Given the description of an element on the screen output the (x, y) to click on. 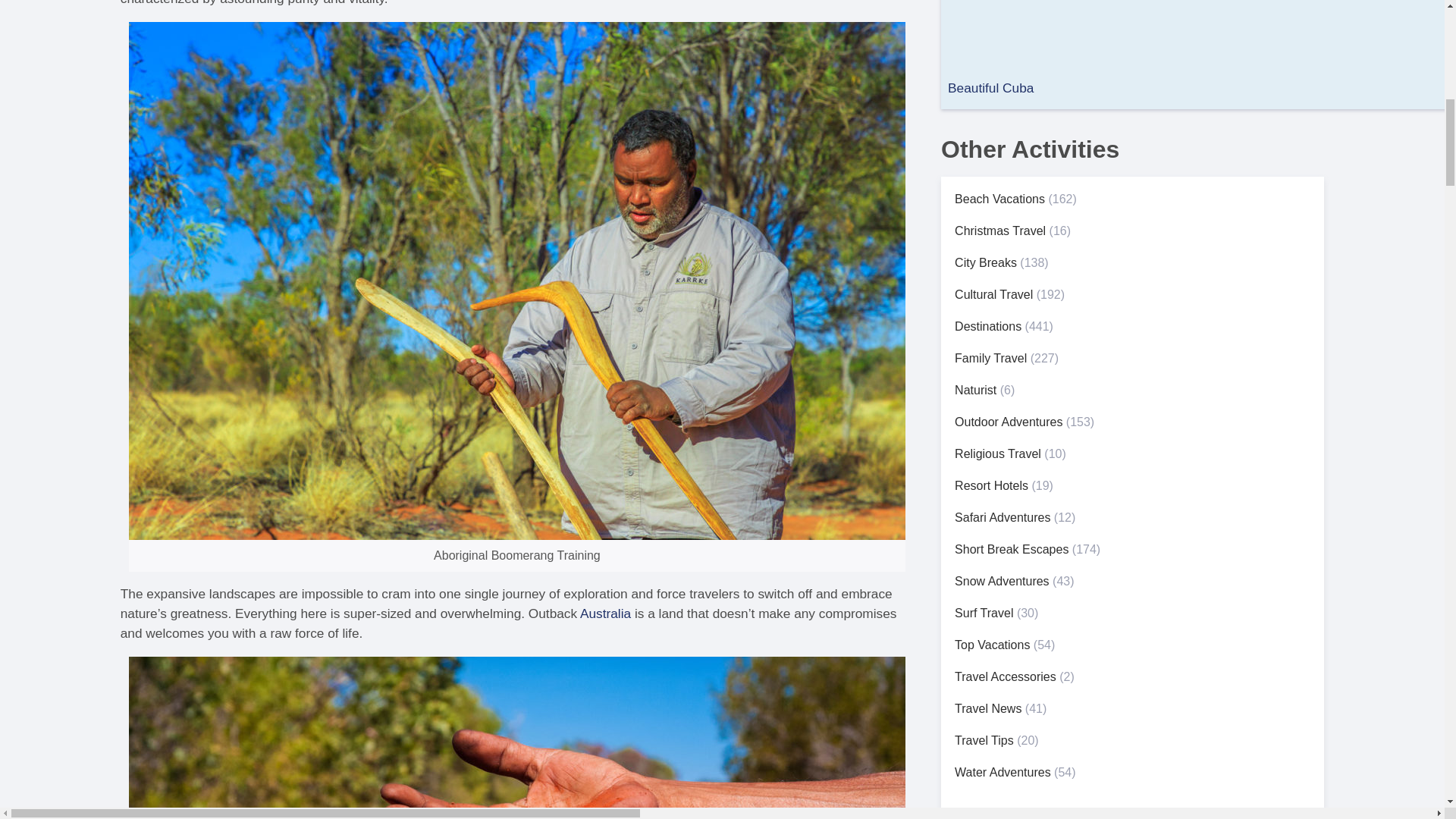
Australia (604, 613)
